Given the description of an element on the screen output the (x, y) to click on. 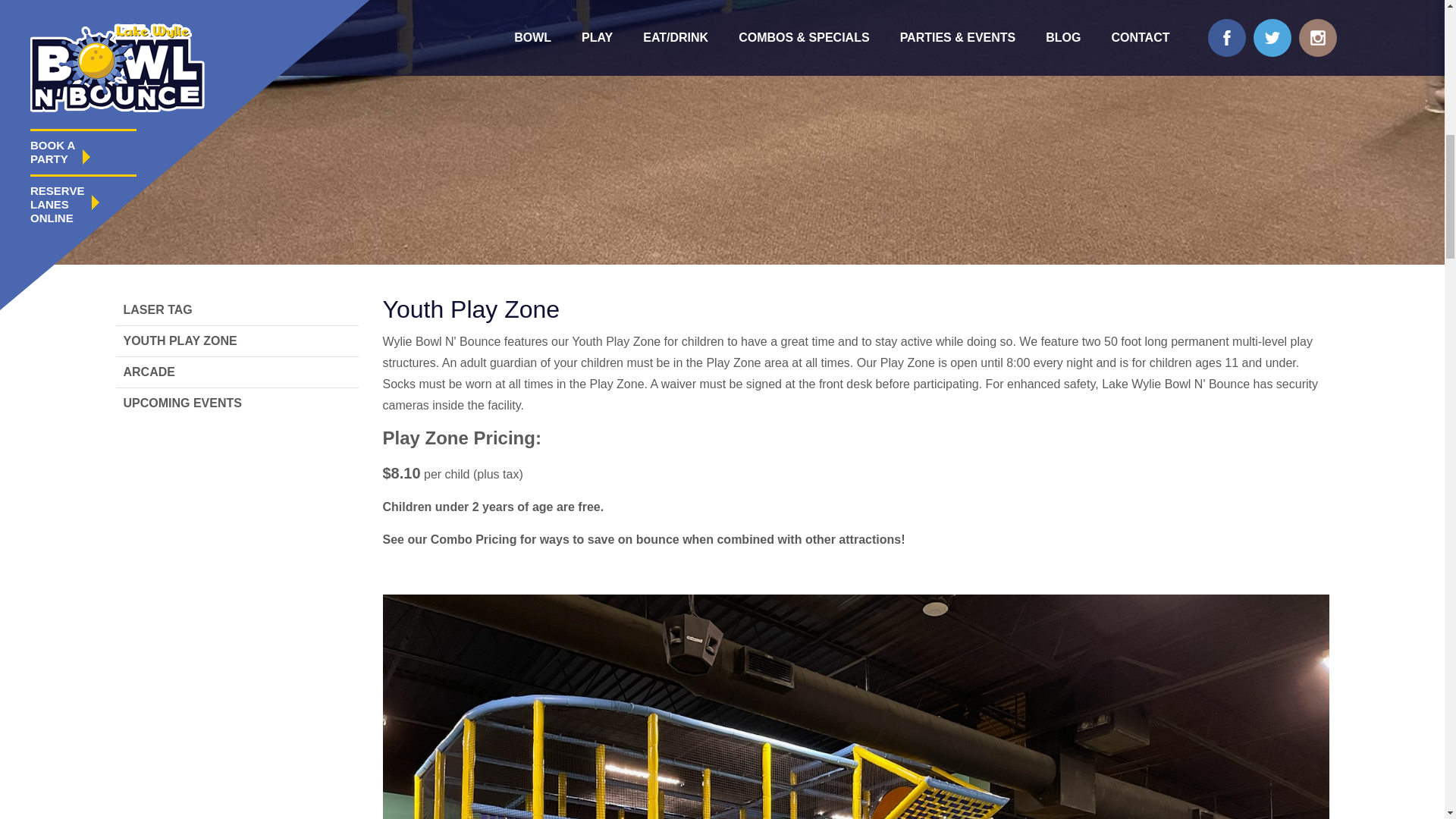
YOUTH PLAY ZONE (236, 340)
ARCADE (236, 372)
LASER TAG (236, 309)
UPCOMING EVENTS (236, 403)
